Given the description of an element on the screen output the (x, y) to click on. 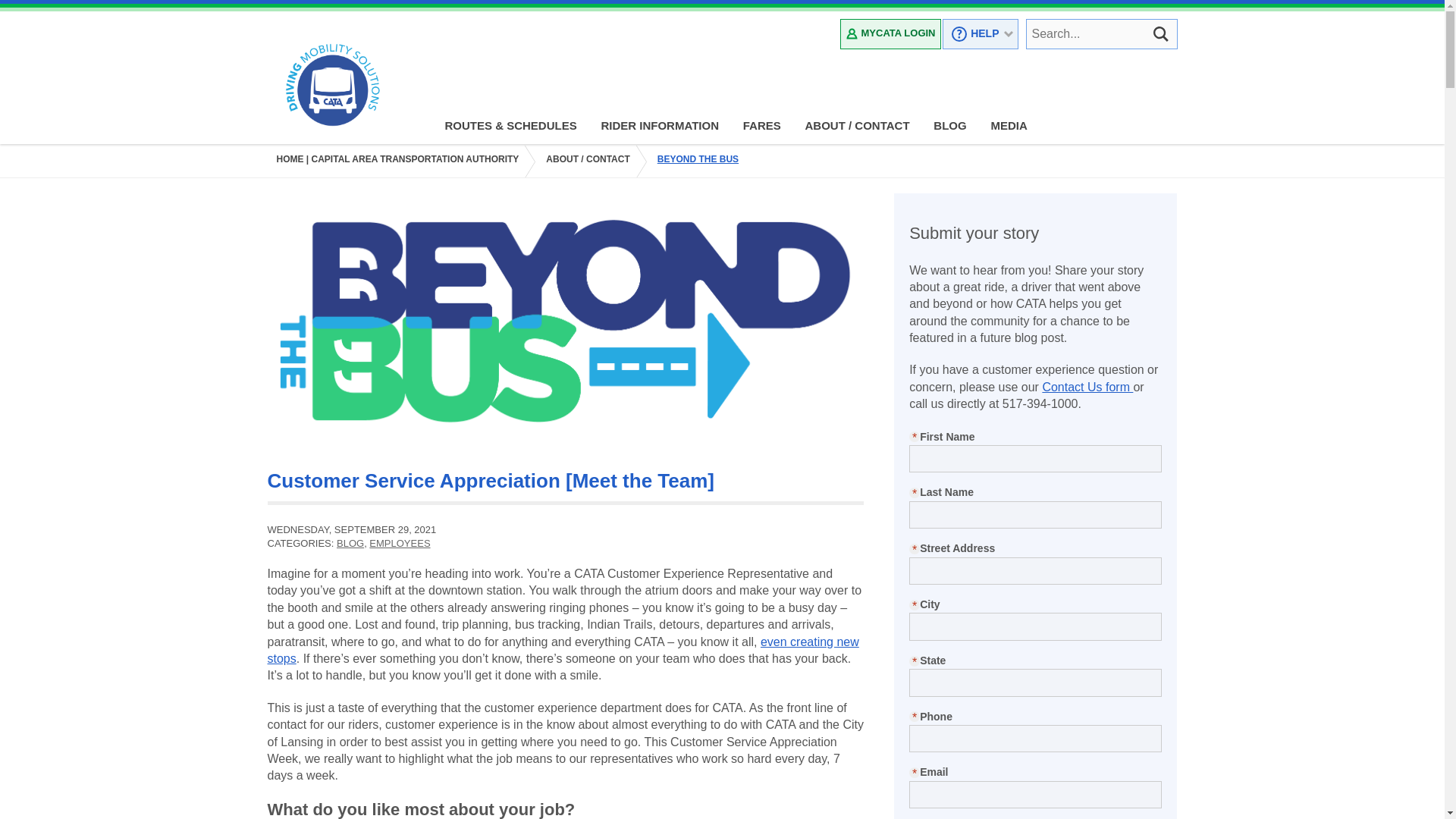
EMPLOYEES (399, 542)
BEYOND THE BUS (702, 160)
Search (1160, 33)
CATA: Driving Mobility Solutions (332, 85)
BLOG (951, 125)
MEDIA (1010, 125)
even creating new stops (562, 650)
RIDER INFORMATION (660, 125)
FARES (763, 125)
MYCATA LOGIN (890, 33)
HELP (979, 33)
BLOG (350, 542)
